Given the description of an element on the screen output the (x, y) to click on. 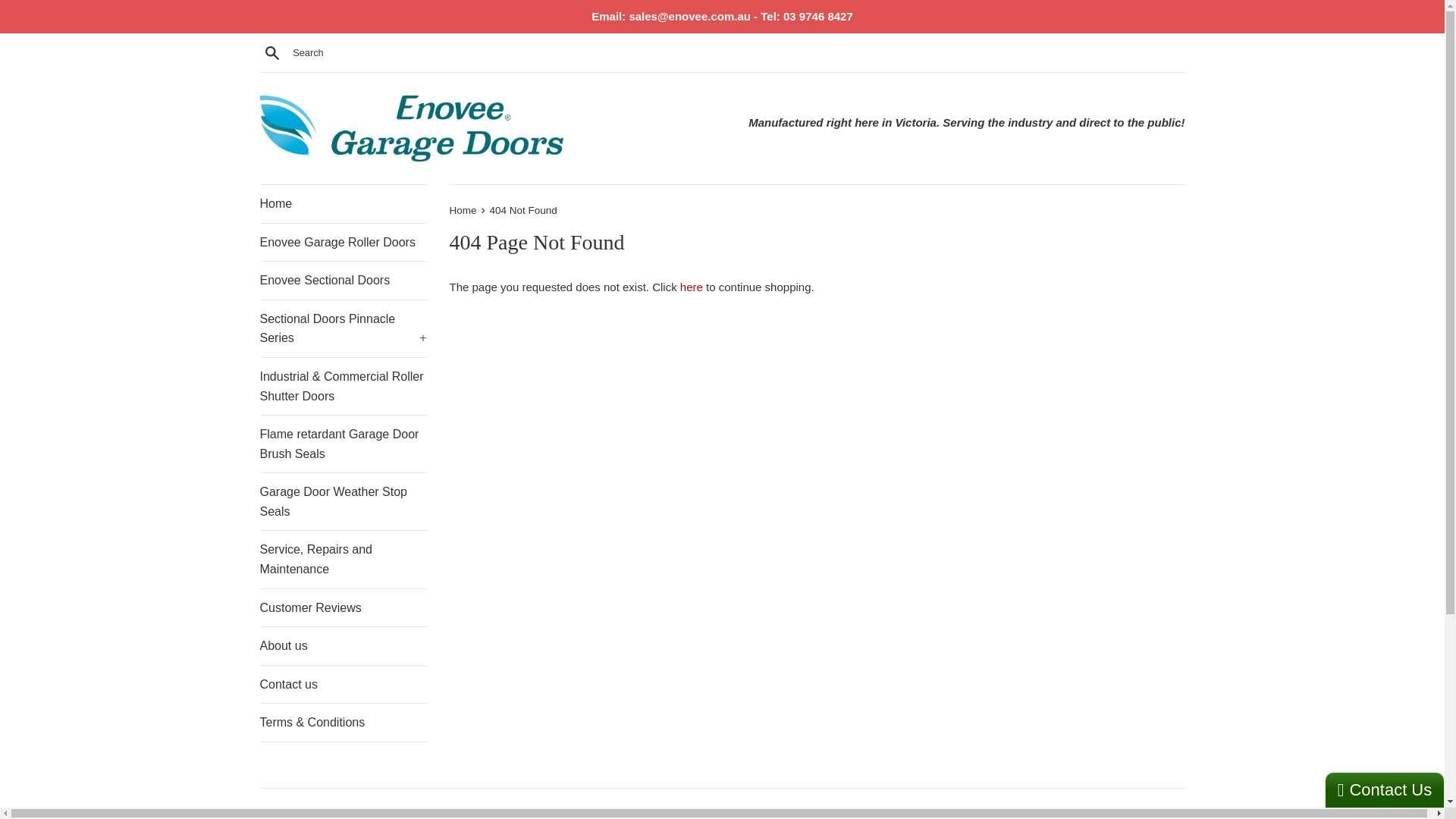
Sectional Doors Pinnacle Series
+ Element type: text (342, 328)
Enovee Sectional Doors Element type: text (342, 280)
About us Element type: text (342, 646)
Contact us Element type: text (342, 684)
Flame retardant Garage Door Brush Seals Element type: text (342, 443)
Service, Repairs and Maintenance Element type: text (342, 558)
here Element type: text (691, 286)
Garage Door Weather Stop Seals Element type: text (342, 501)
Enovee Garage Roller Doors Element type: text (342, 242)
Industrial & Commercial Roller Shutter Doors Element type: text (342, 385)
Search Element type: text (271, 52)
Home Element type: text (342, 203)
Customer Reviews Element type: text (342, 608)
Home Element type: text (463, 210)
Terms & Conditions Element type: text (342, 722)
